Given the description of an element on the screen output the (x, y) to click on. 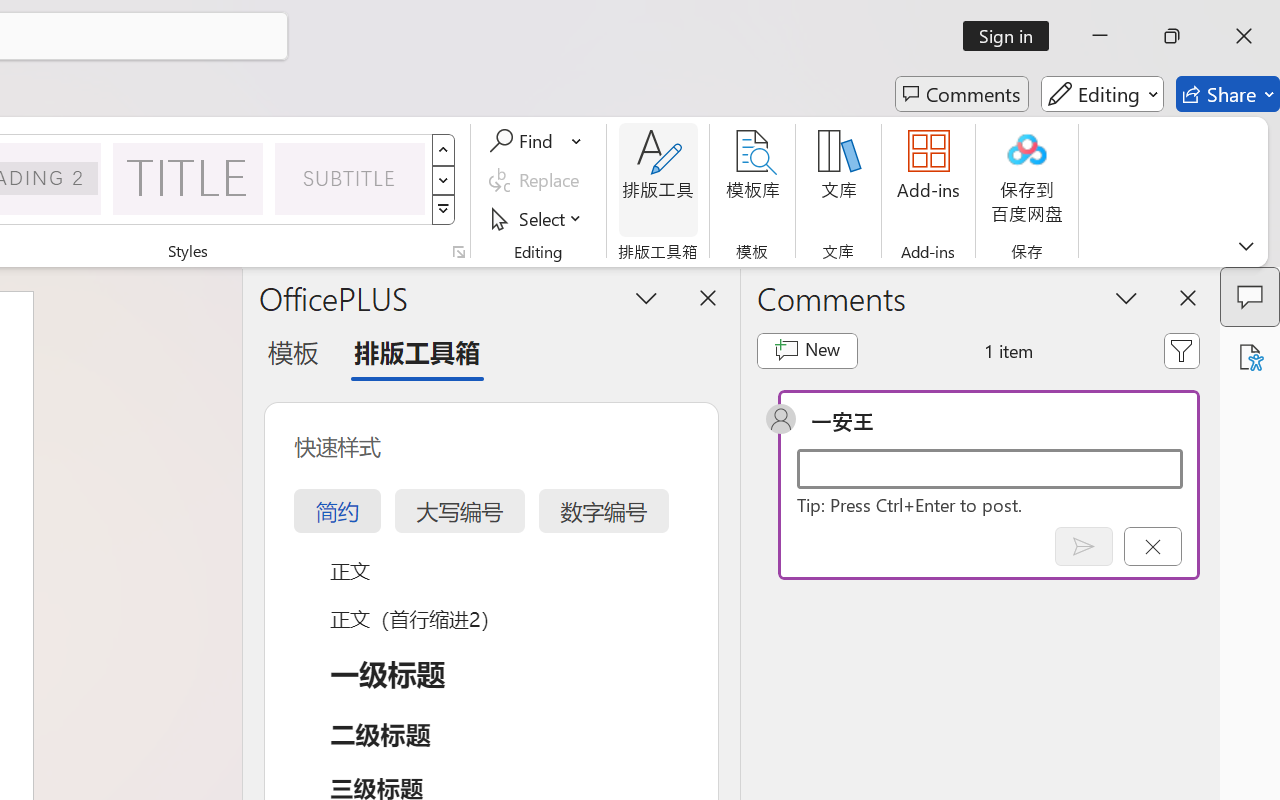
Sign in (1012, 35)
Post comment (Ctrl + Enter) (1083, 546)
Accessibility Assistant (1249, 357)
Start a conversation (990, 468)
Subtitle (349, 178)
